Given the description of an element on the screen output the (x, y) to click on. 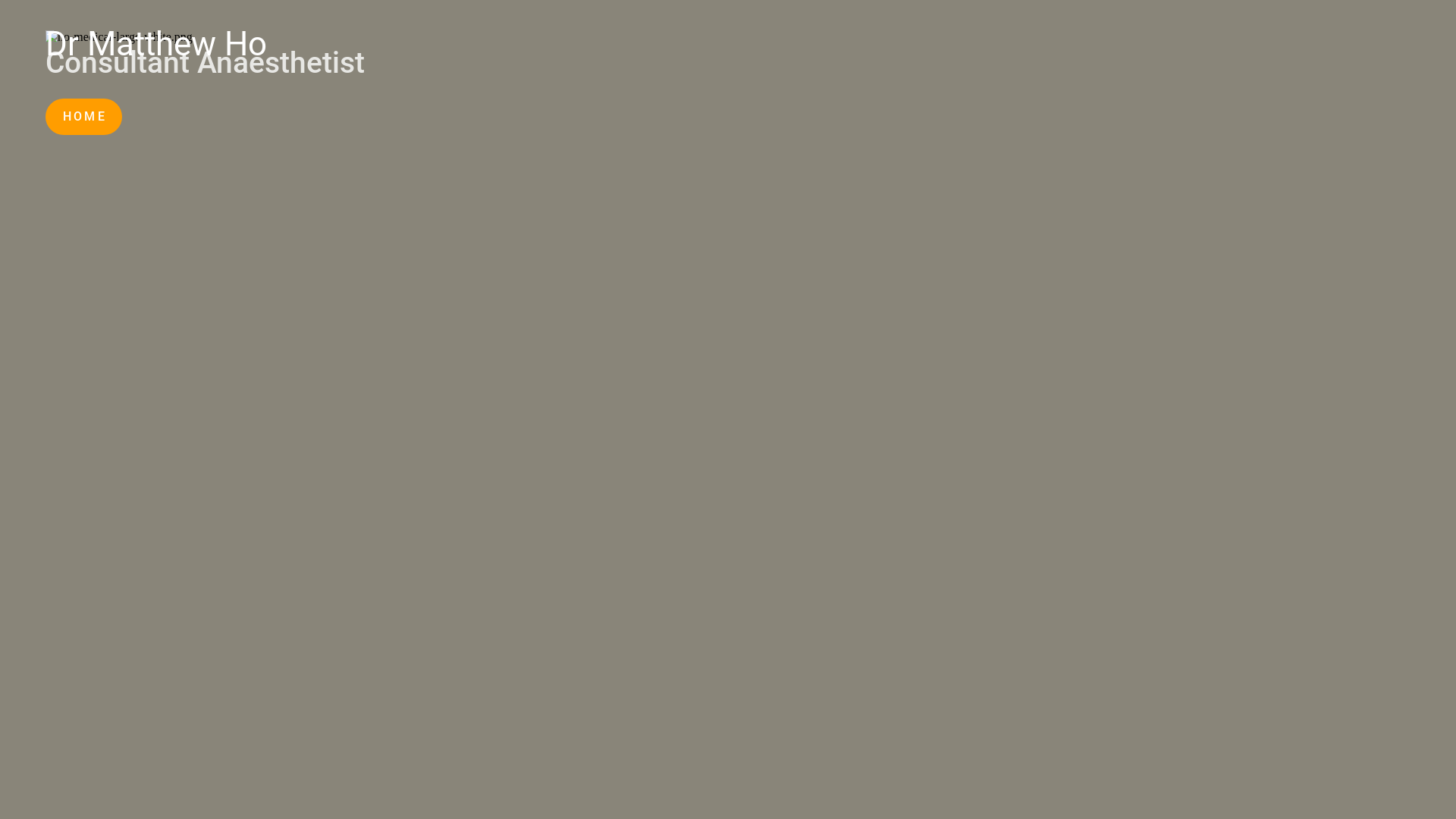
HOME Element type: text (83, 116)
